Given the description of an element on the screen output the (x, y) to click on. 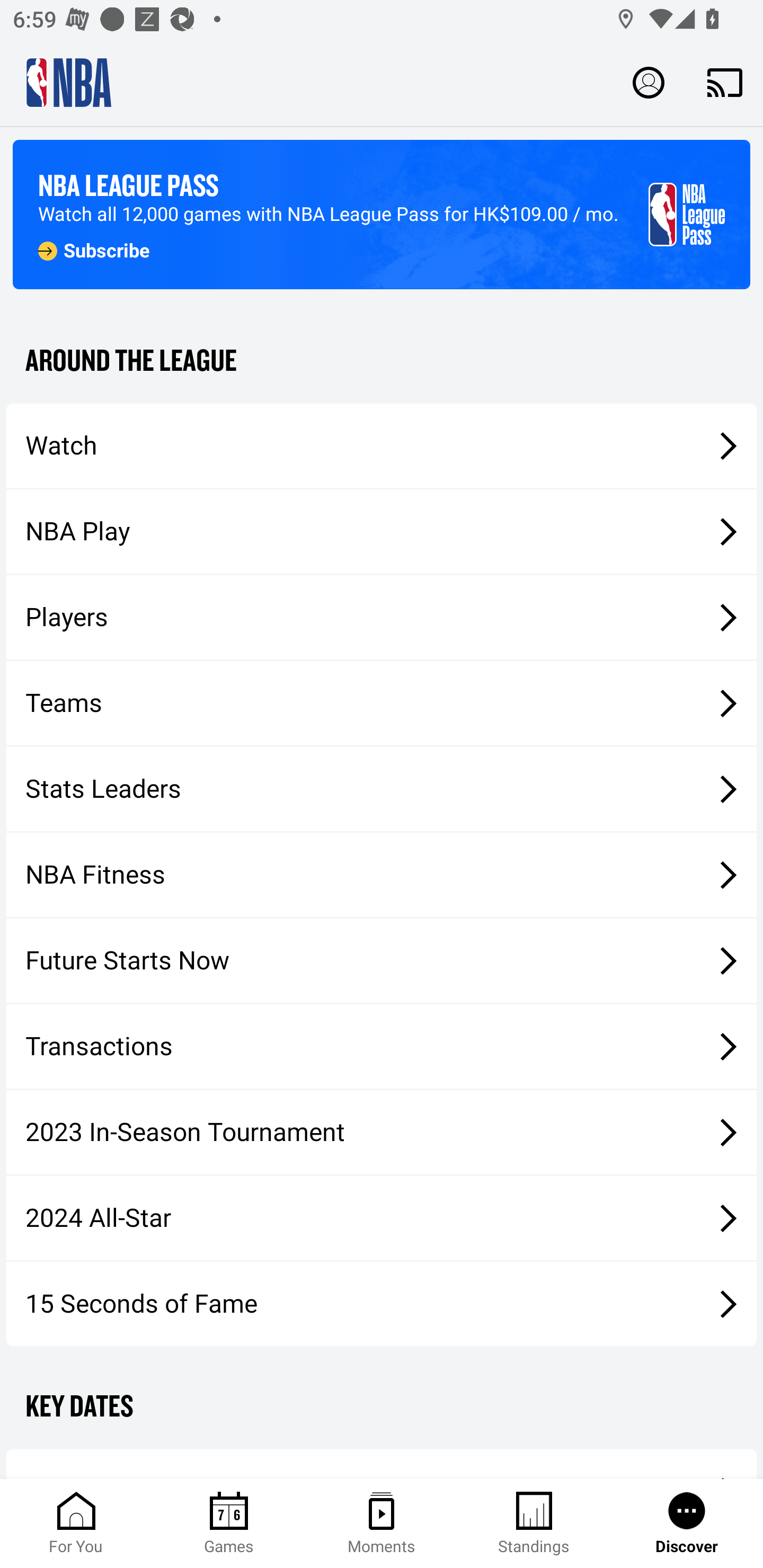
Cast. Disconnected (724, 82)
Profile (648, 81)
Watch (381, 444)
NBA Play (381, 531)
Players (381, 617)
Teams (381, 702)
Stats Leaders (381, 788)
NBA Fitness (381, 874)
Future Starts Now (381, 960)
Transactions (381, 1046)
2023 In-Season Tournament (381, 1131)
2024 All-Star (381, 1218)
15 Seconds of Fame (381, 1303)
For You (76, 1523)
Games (228, 1523)
Moments (381, 1523)
Standings (533, 1523)
